Given the description of an element on the screen output the (x, y) to click on. 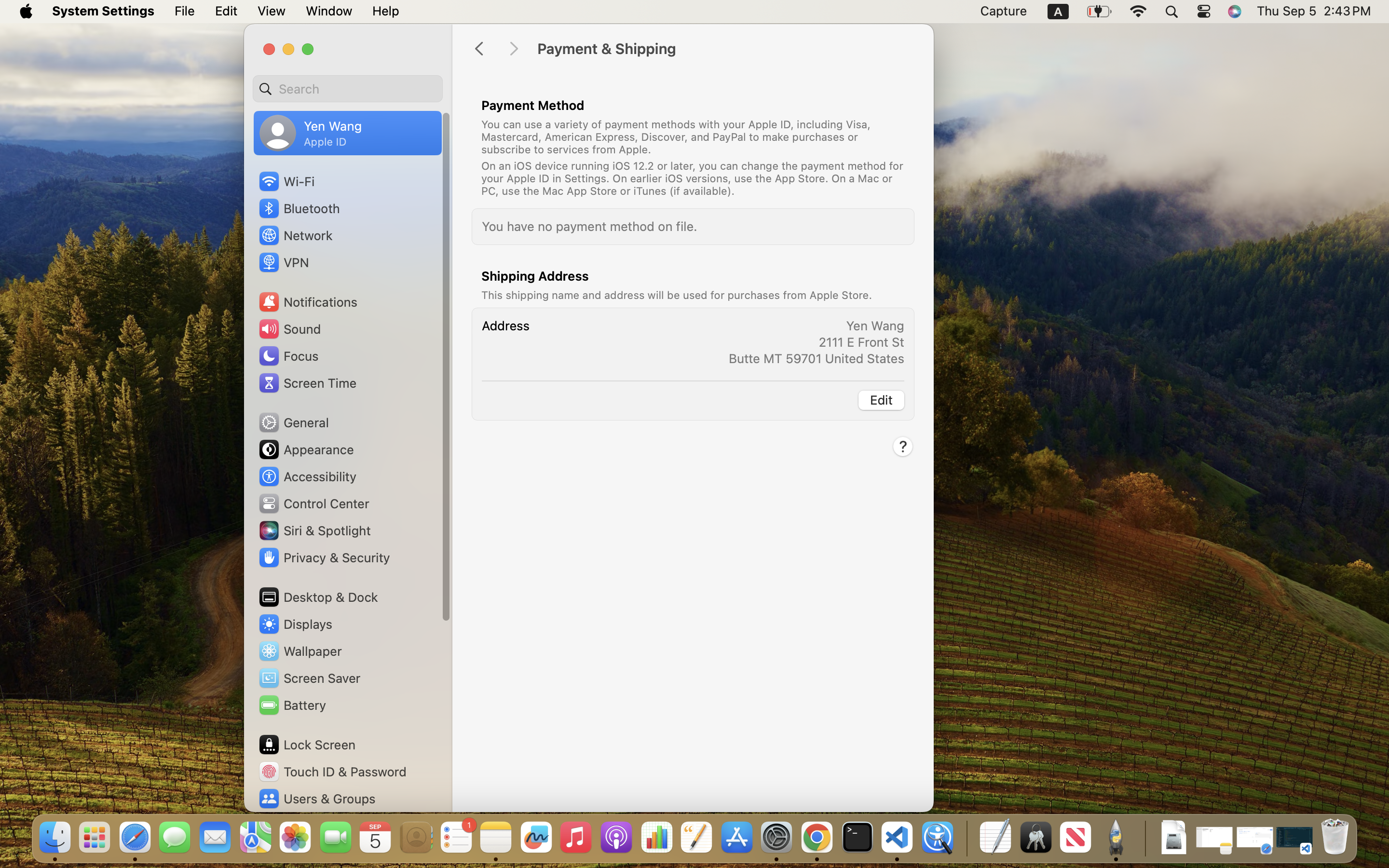
Address Element type: AXStaticText (505, 325)
Desktop & Dock Element type: AXStaticText (317, 596)
Battery Element type: AXStaticText (291, 704)
Displays Element type: AXStaticText (294, 623)
Payment & Shipping Element type: AXStaticText (725, 49)
